Given the description of an element on the screen output the (x, y) to click on. 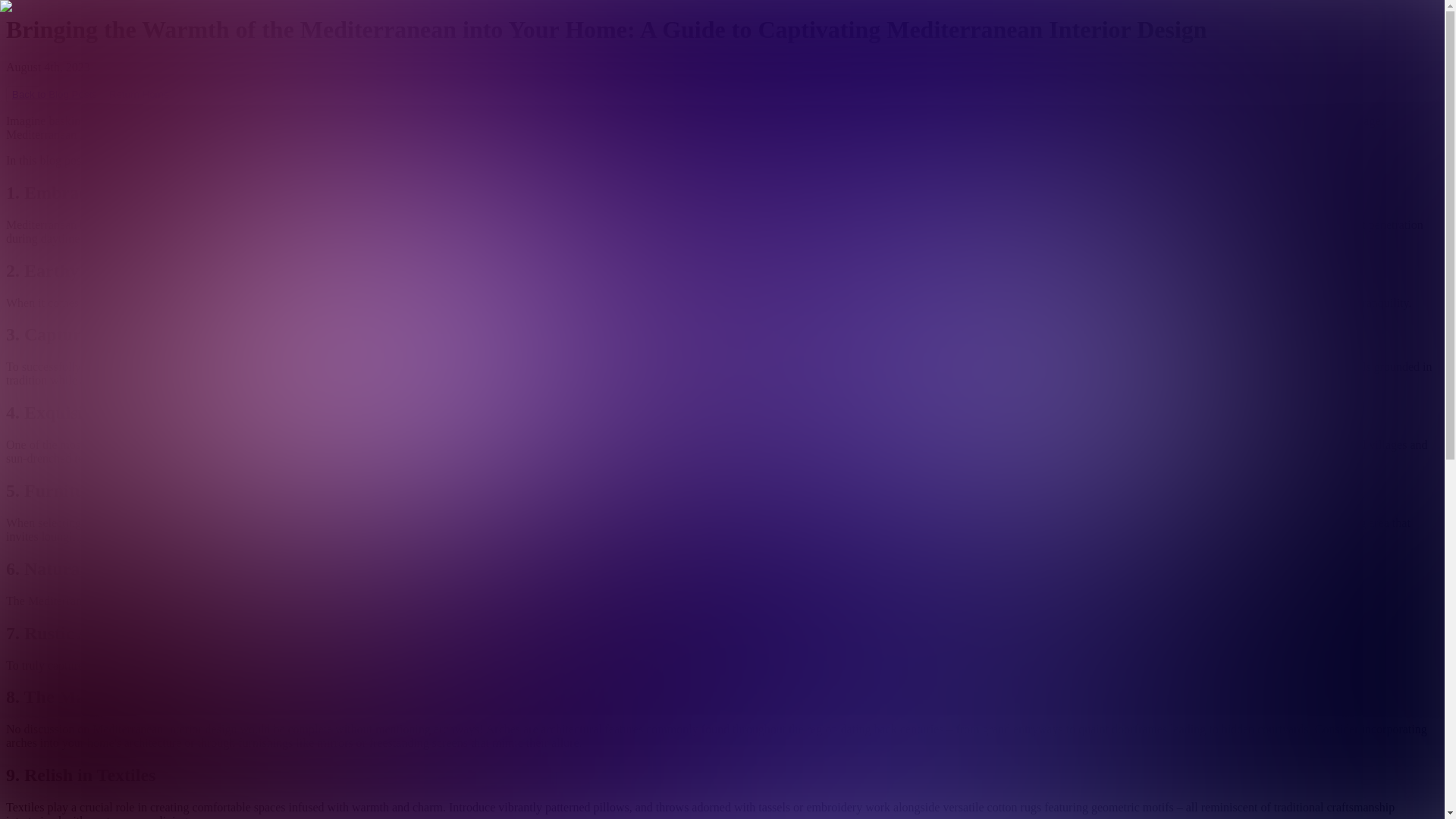
Return Home (138, 93)
Back to Blog Posts (54, 93)
Return Home (138, 94)
Back to Blog Posts (54, 94)
